Given the description of an element on the screen output the (x, y) to click on. 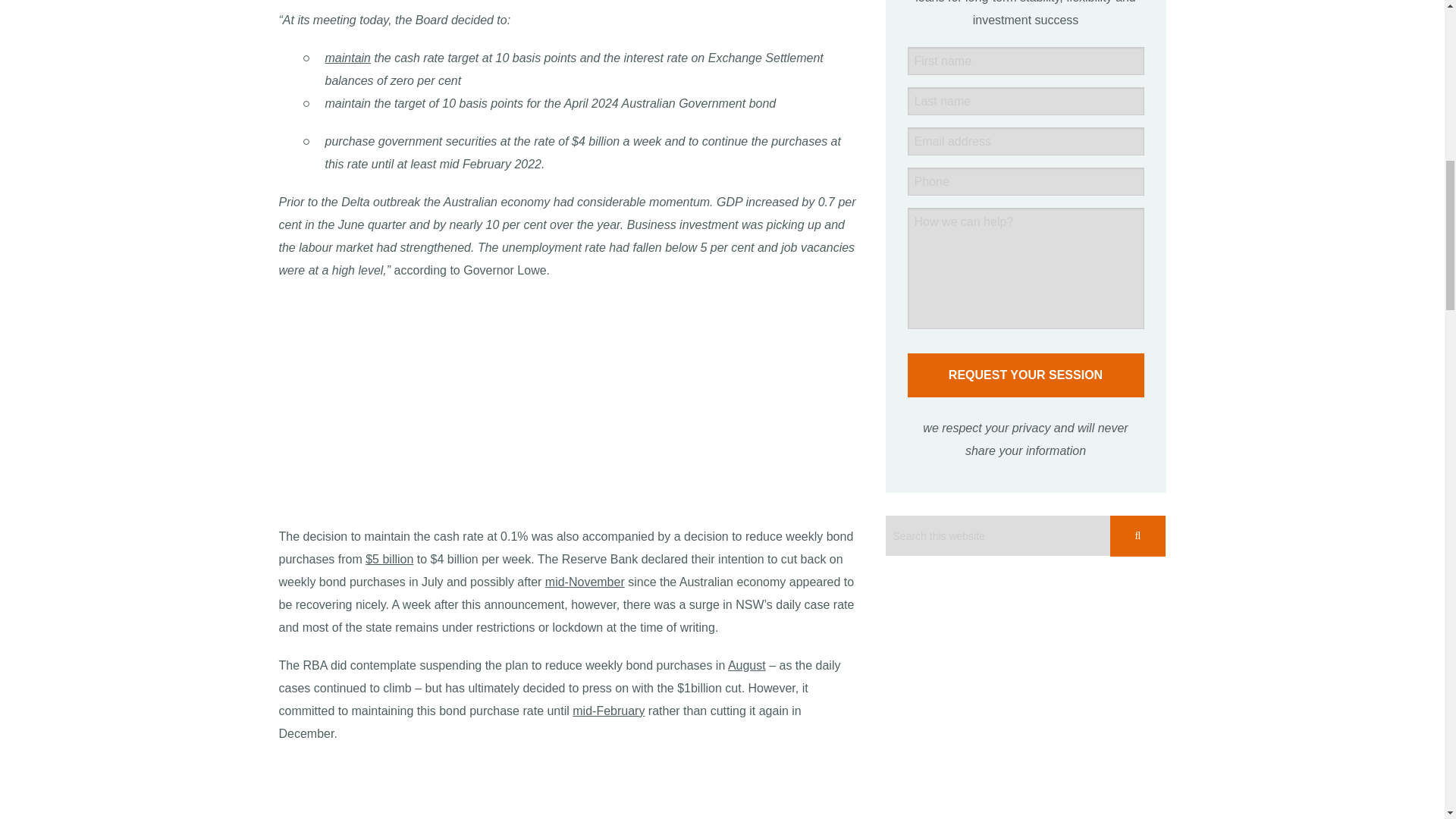
REQUEST YOUR SESSION (1025, 374)
